Given the description of an element on the screen output the (x, y) to click on. 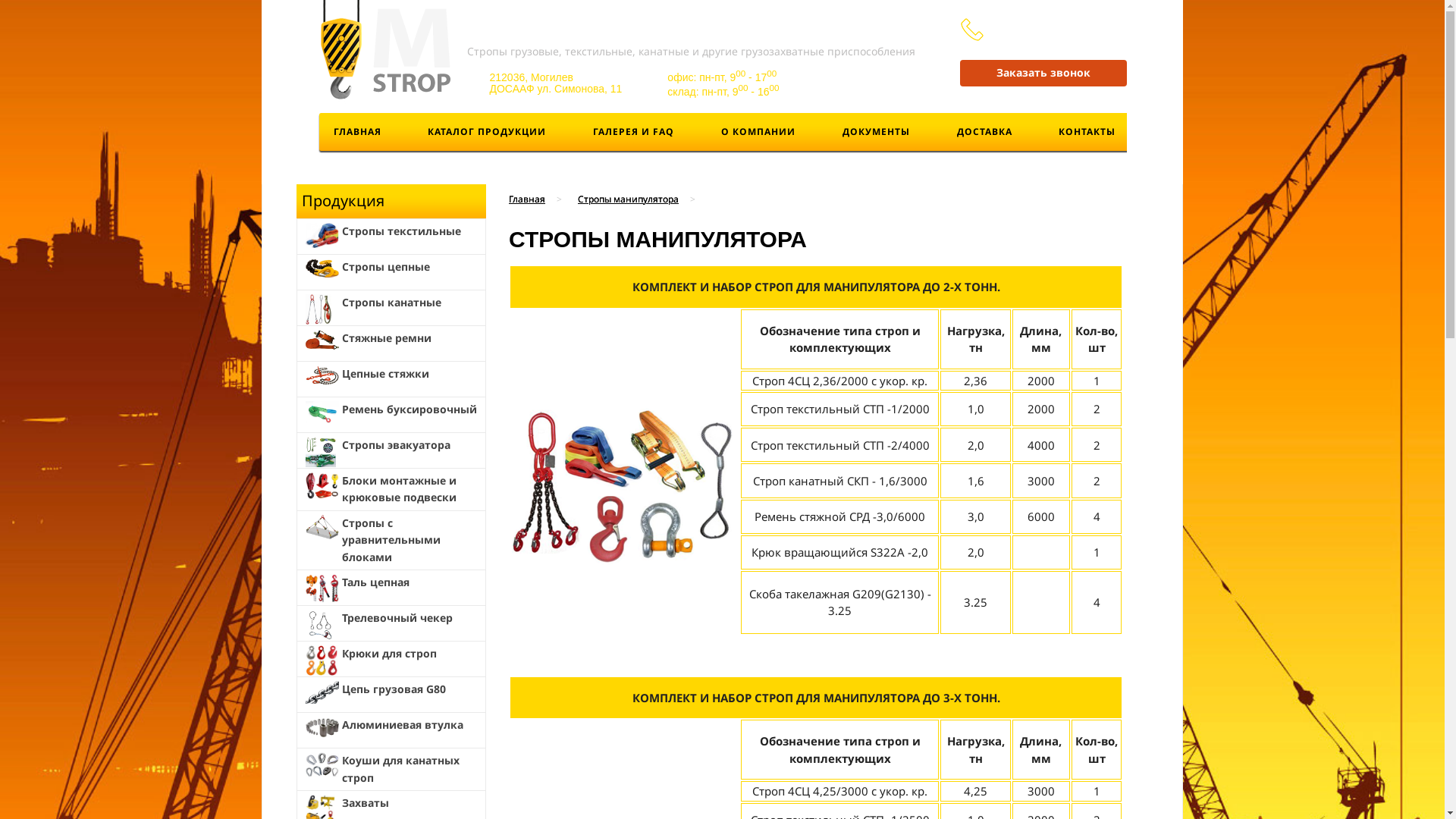
+375 (222) 62-60-00 Element type: text (1058, 47)
+375 (29) 161-49-71 Element type: text (1058, 28)
